Given the description of an element on the screen output the (x, y) to click on. 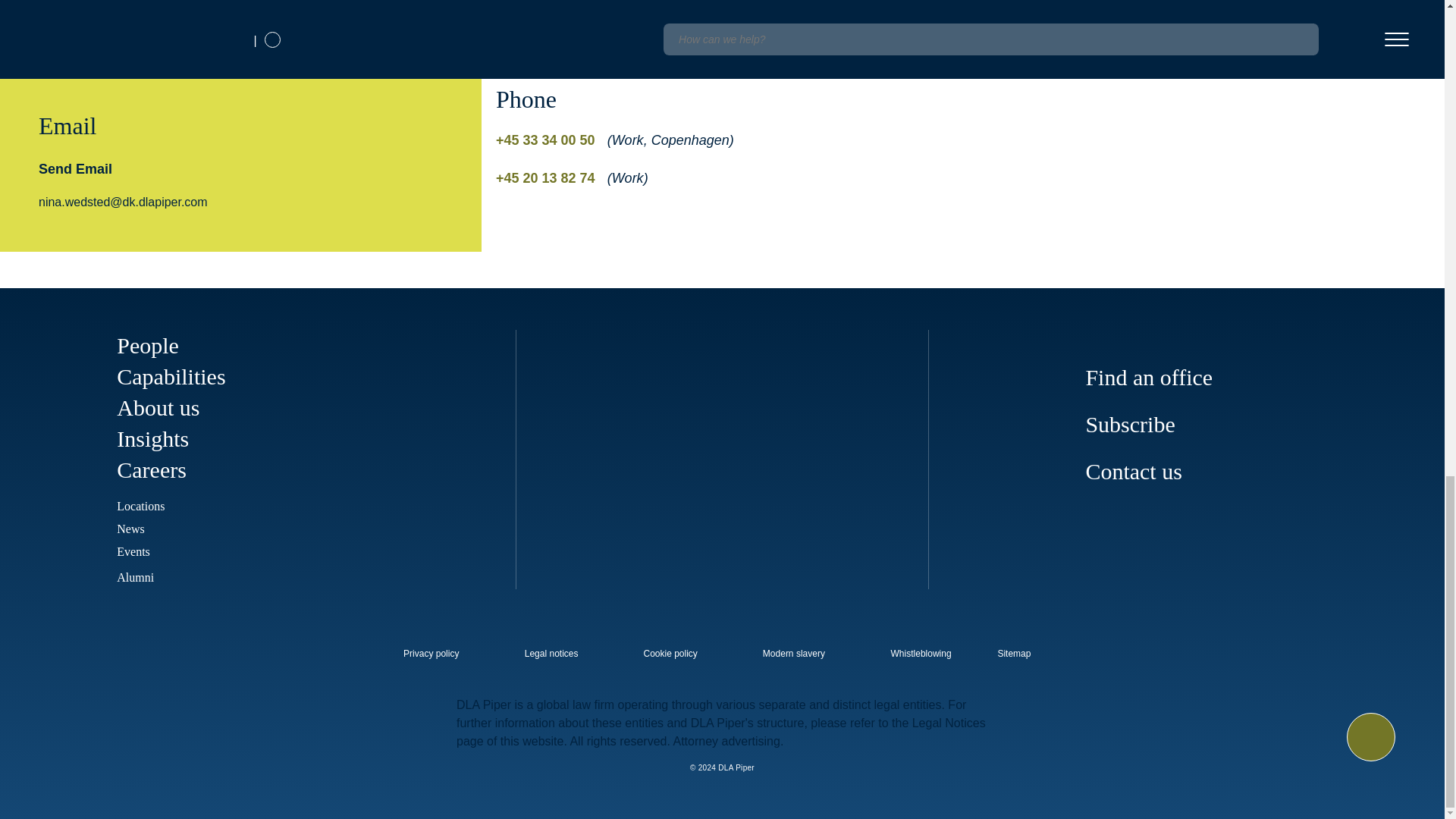
People (147, 344)
Send Email (75, 168)
internal (670, 653)
Capabilities (170, 376)
internal (430, 653)
internal (920, 653)
About us (157, 407)
external (1024, 649)
internal (549, 653)
internal (793, 653)
